Given the description of an element on the screen output the (x, y) to click on. 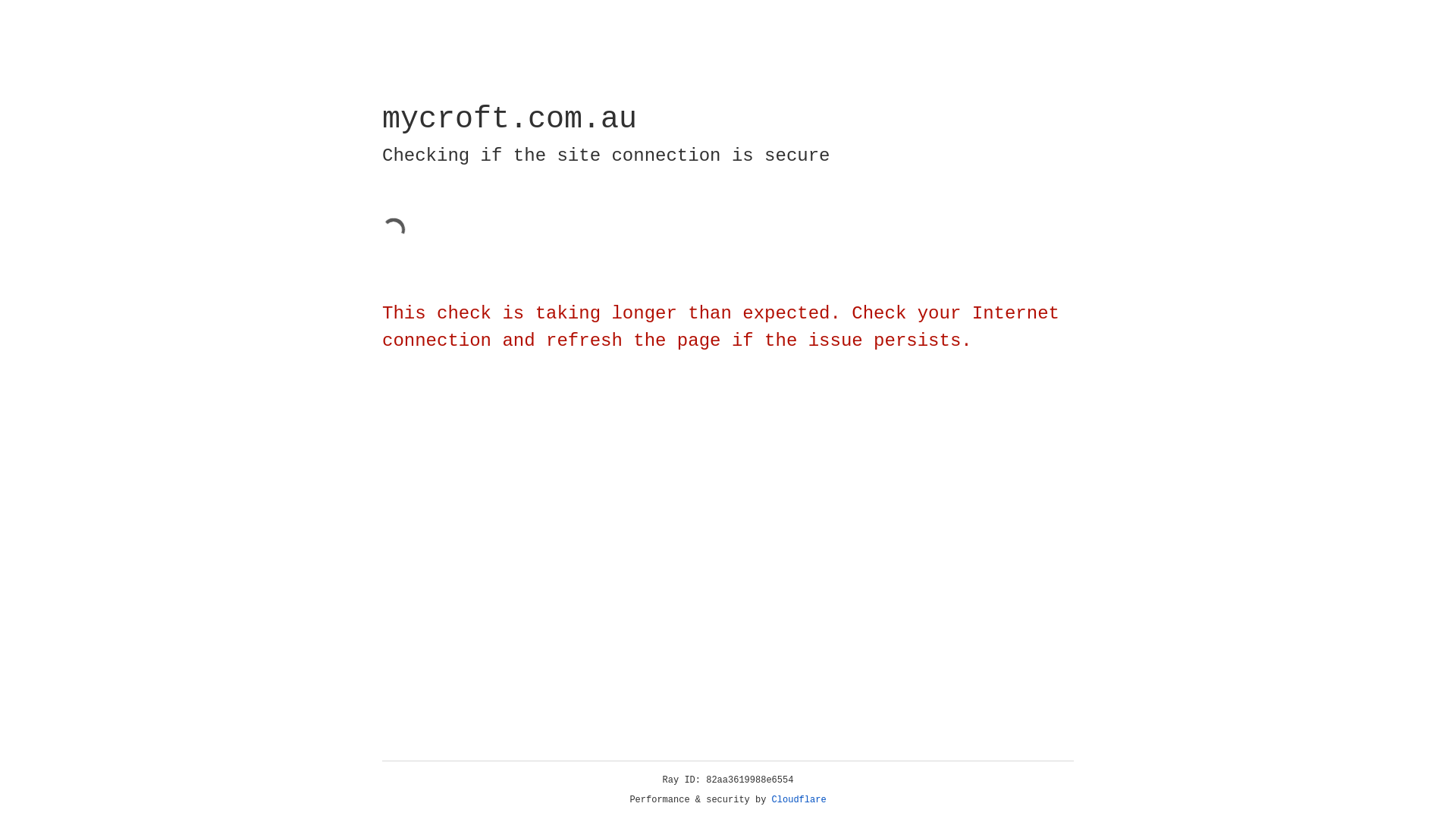
Cloudflare Element type: text (798, 799)
